Given the description of an element on the screen output the (x, y) to click on. 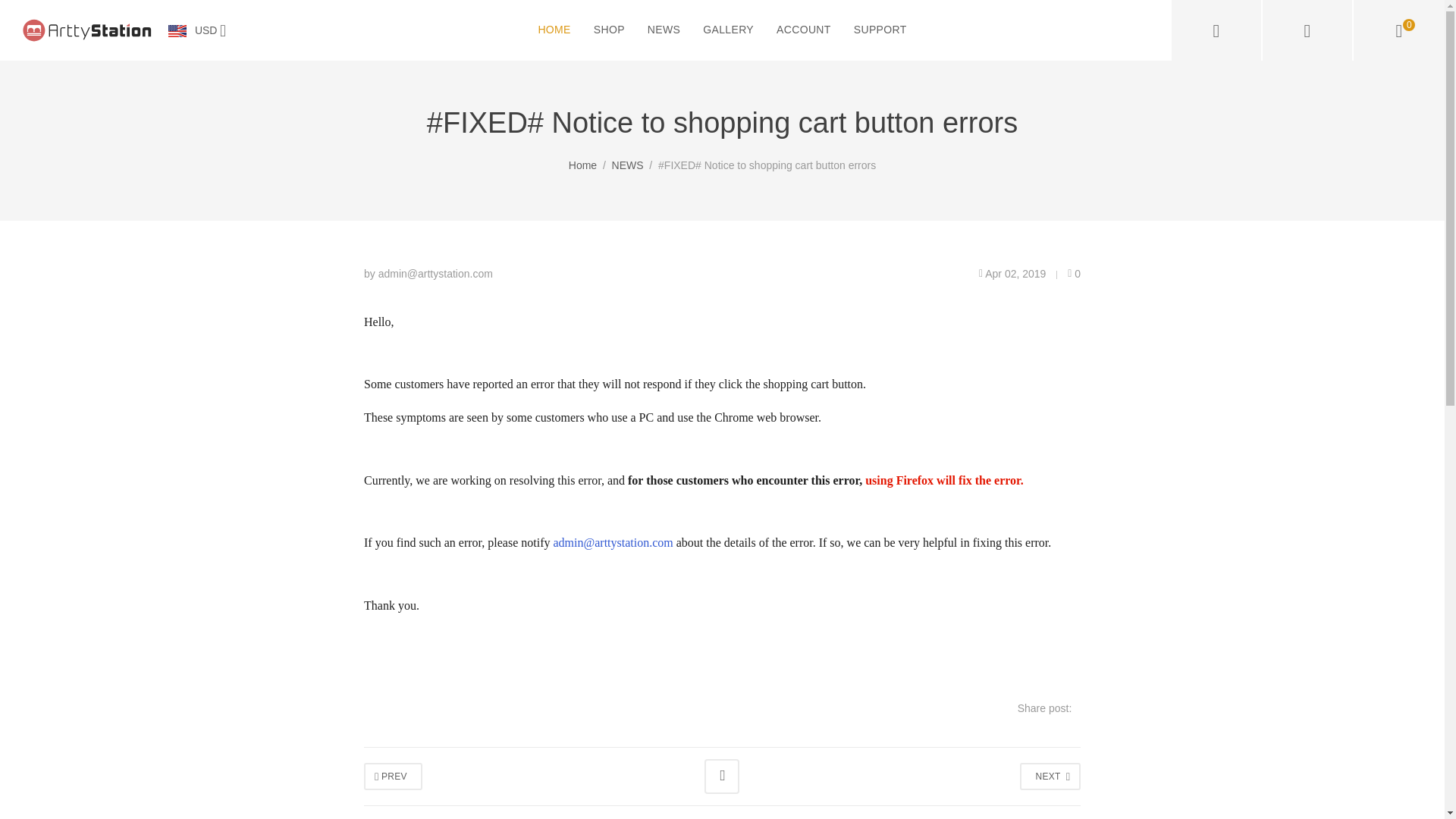
NEWS (663, 30)
HOME (552, 30)
ACCOUNT (804, 30)
GALLERY (728, 30)
 0 (1073, 273)
SUPPORT (880, 30)
